Given the description of an element on the screen output the (x, y) to click on. 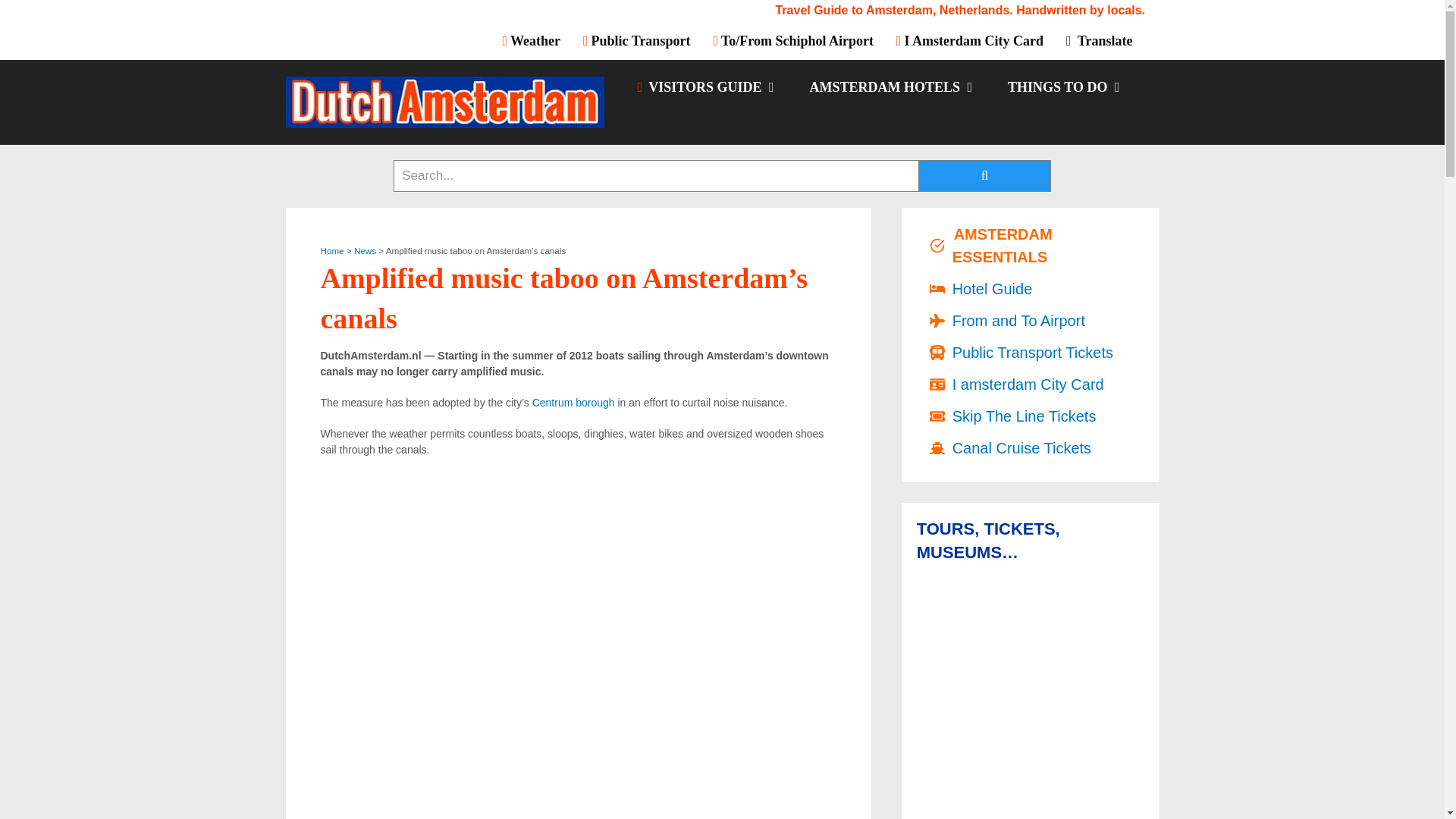
AMSTERDAM HOTELS (890, 86)
Visitors Guide (704, 86)
Translate (1098, 40)
I Amsterdam City Card (969, 40)
Hotel Guide (890, 86)
Weather (537, 40)
THINGS TO DO (1061, 86)
Things to do in Amsterdam (1061, 86)
August weather in Amsterdam (537, 40)
Translate this page (1098, 40)
